Given the description of an element on the screen output the (x, y) to click on. 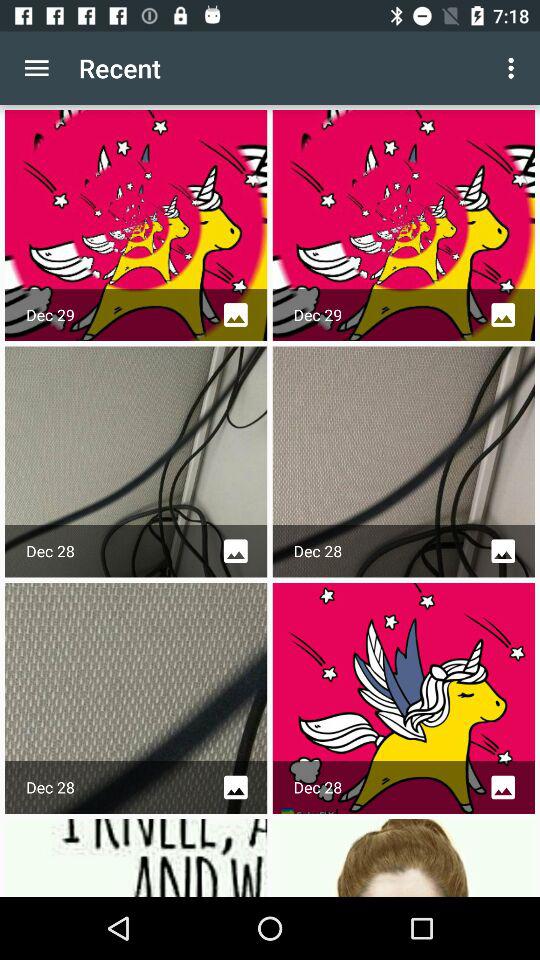
click on the 1st image in the 2nd row (135, 461)
select the right side first image (404, 225)
click on the right side first image (404, 225)
click the fourth image below menu bar (404, 461)
select the last picture in the image (404, 857)
select the first image (135, 225)
select the first picture (135, 225)
first image in the fourth row (135, 857)
